Given the description of an element on the screen output the (x, y) to click on. 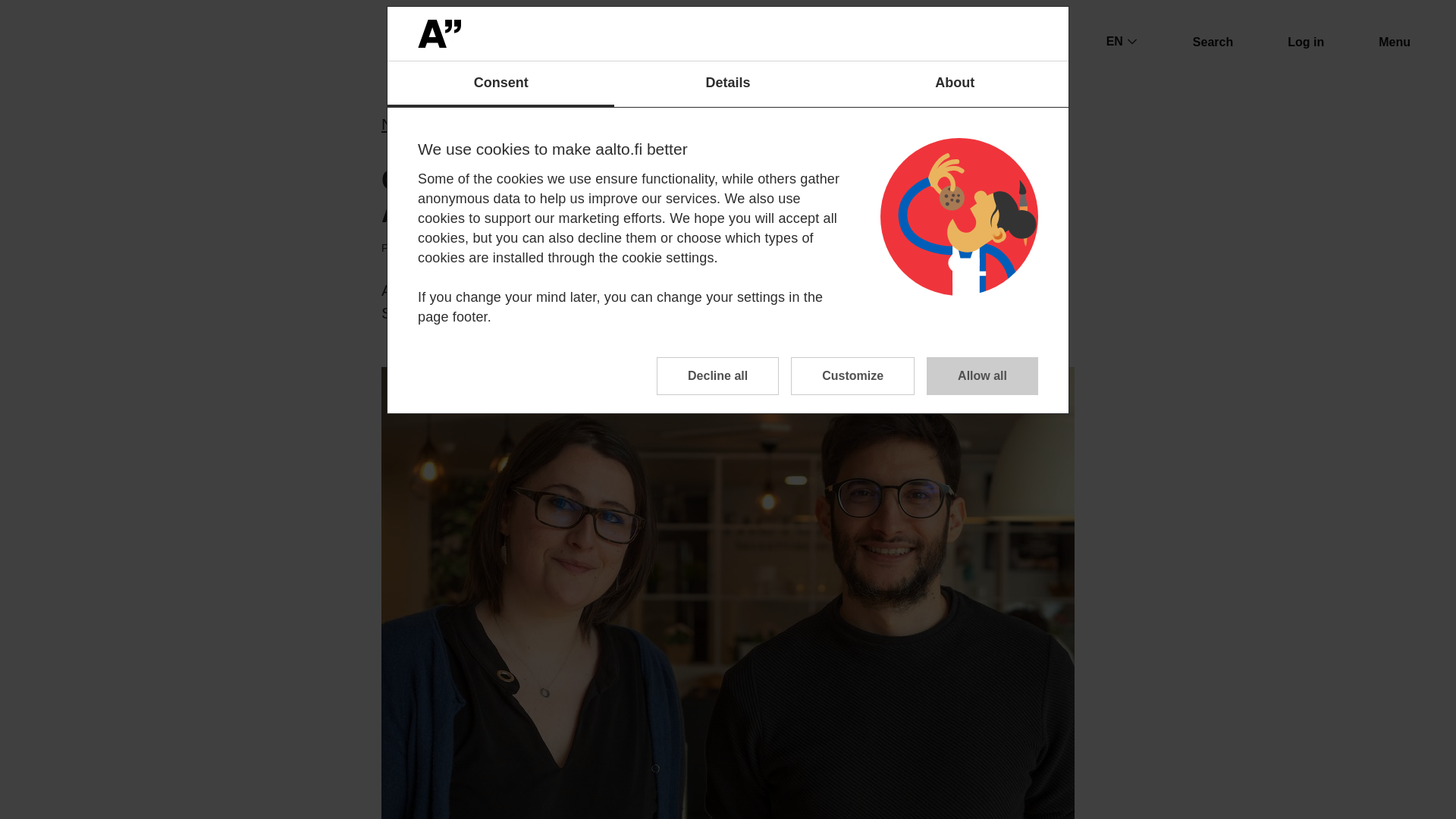
About (954, 84)
Consent (500, 84)
Details (727, 84)
